Given the description of an element on the screen output the (x, y) to click on. 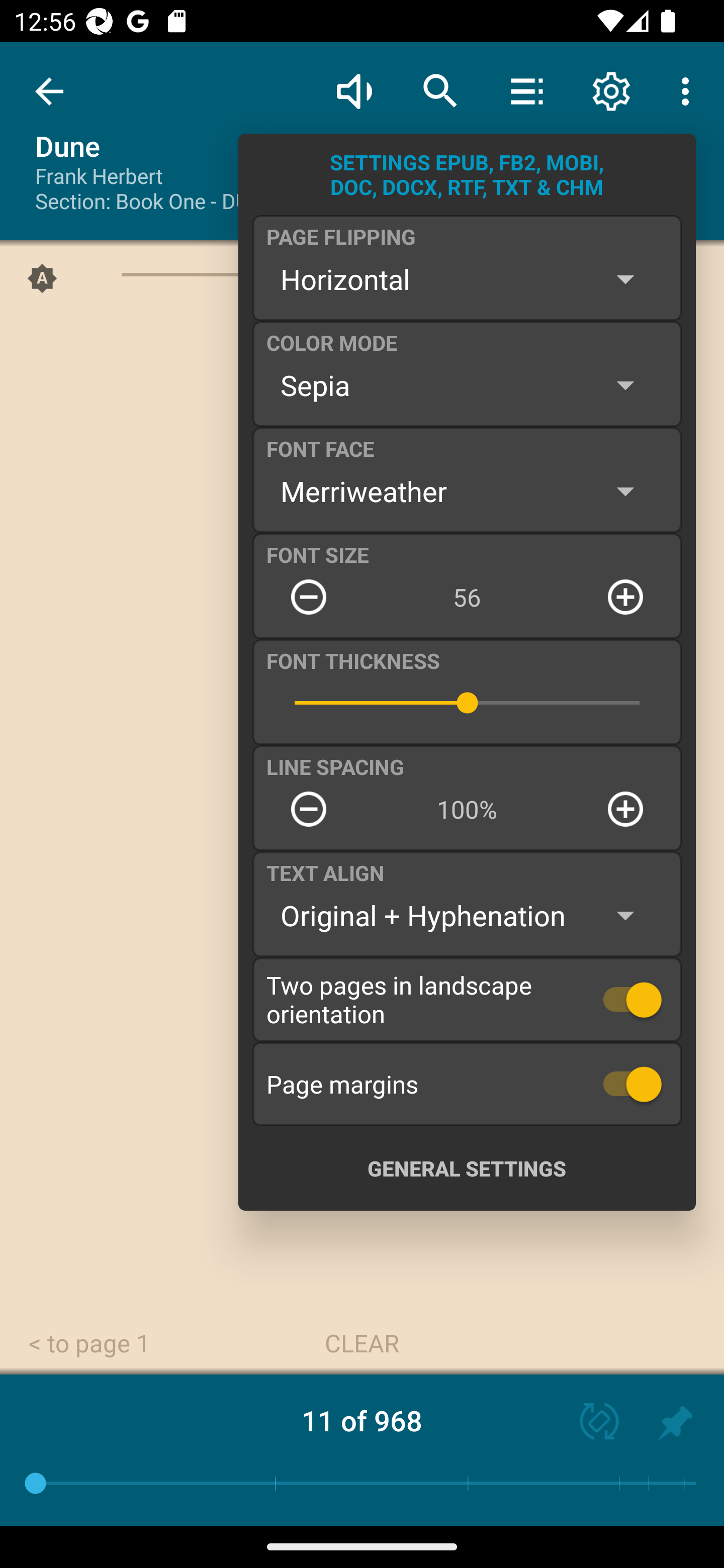
Horizontal (466, 278)
Sepia (466, 384)
Merriweather (466, 490)
Original + Hyphenation (466, 915)
Two pages in landscape orientation (467, 999)
Page margins (467, 1083)
GENERAL SETTINGS (466, 1167)
